Given the description of an element on the screen output the (x, y) to click on. 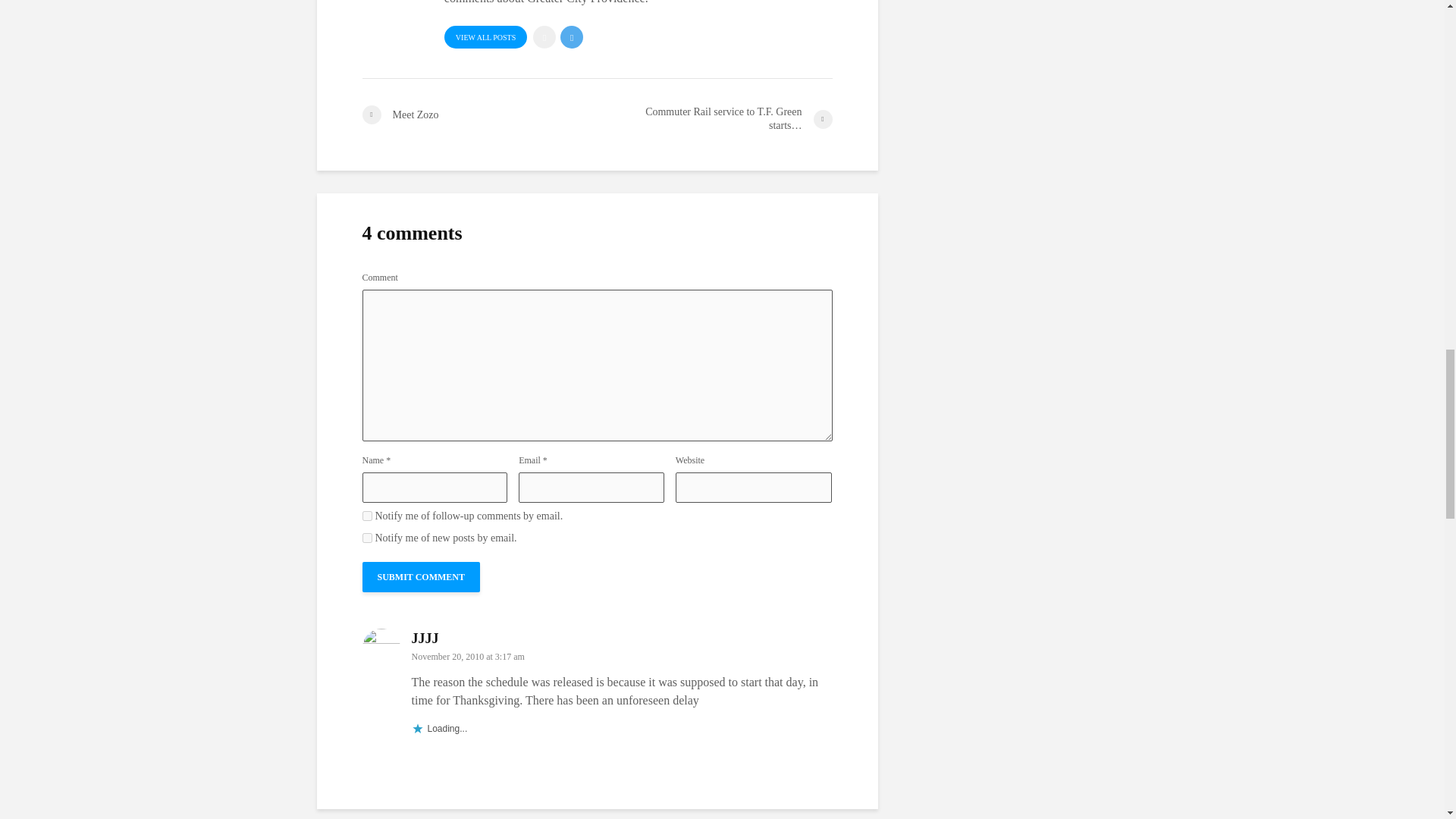
Submit Comment (421, 576)
subscribe (367, 515)
subscribe (367, 537)
